Given the description of an element on the screen output the (x, y) to click on. 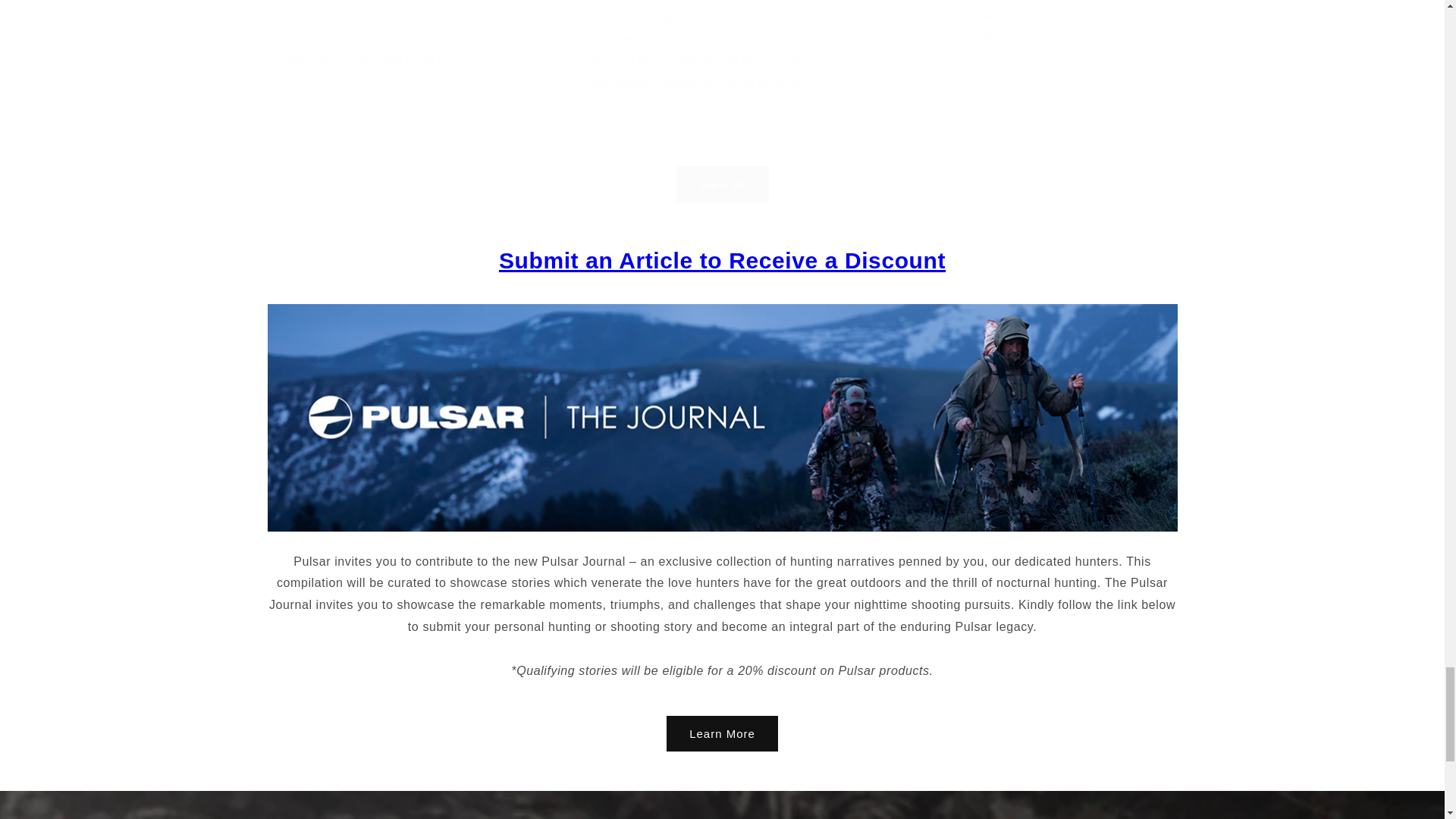
View all (721, 165)
